Given the description of an element on the screen output the (x, y) to click on. 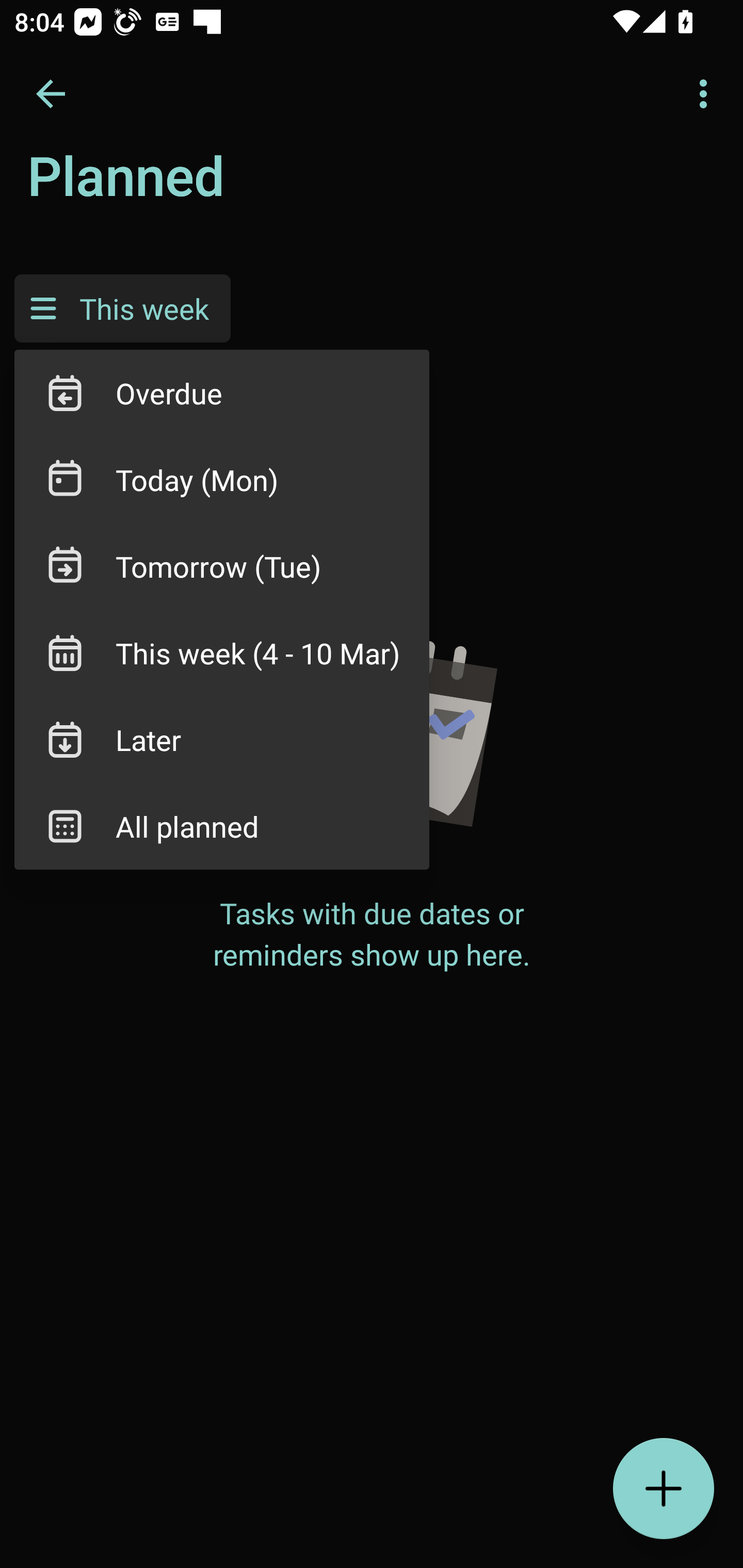
Overdue (221, 392)
Today (Mon) (221, 479)
Tomorrow (Tue) (221, 566)
This week (4 - 10 Mar) (221, 652)
Later (221, 739)
All planned (221, 826)
